Given the description of an element on the screen output the (x, y) to click on. 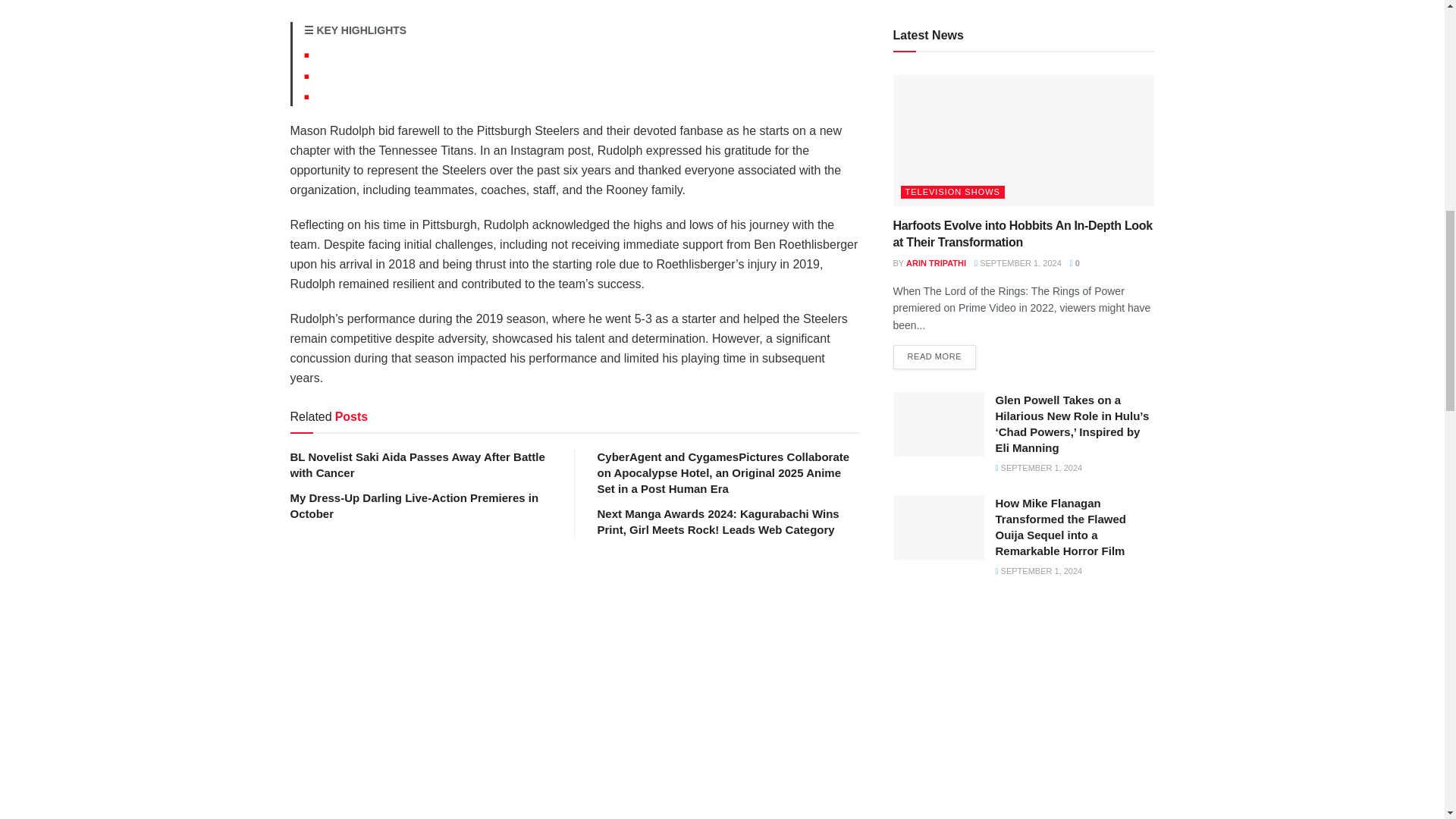
My Dress-Up Darling Live-Action Premieres in October (413, 505)
0 (1075, 262)
BL Novelist Saki Aida Passes Away After Battle with Cancer (416, 464)
SEPTEMBER 1, 2024 (1017, 262)
ARIN TRIPATHI (935, 262)
TELEVISION SHOWS (952, 192)
